Given the description of an element on the screen output the (x, y) to click on. 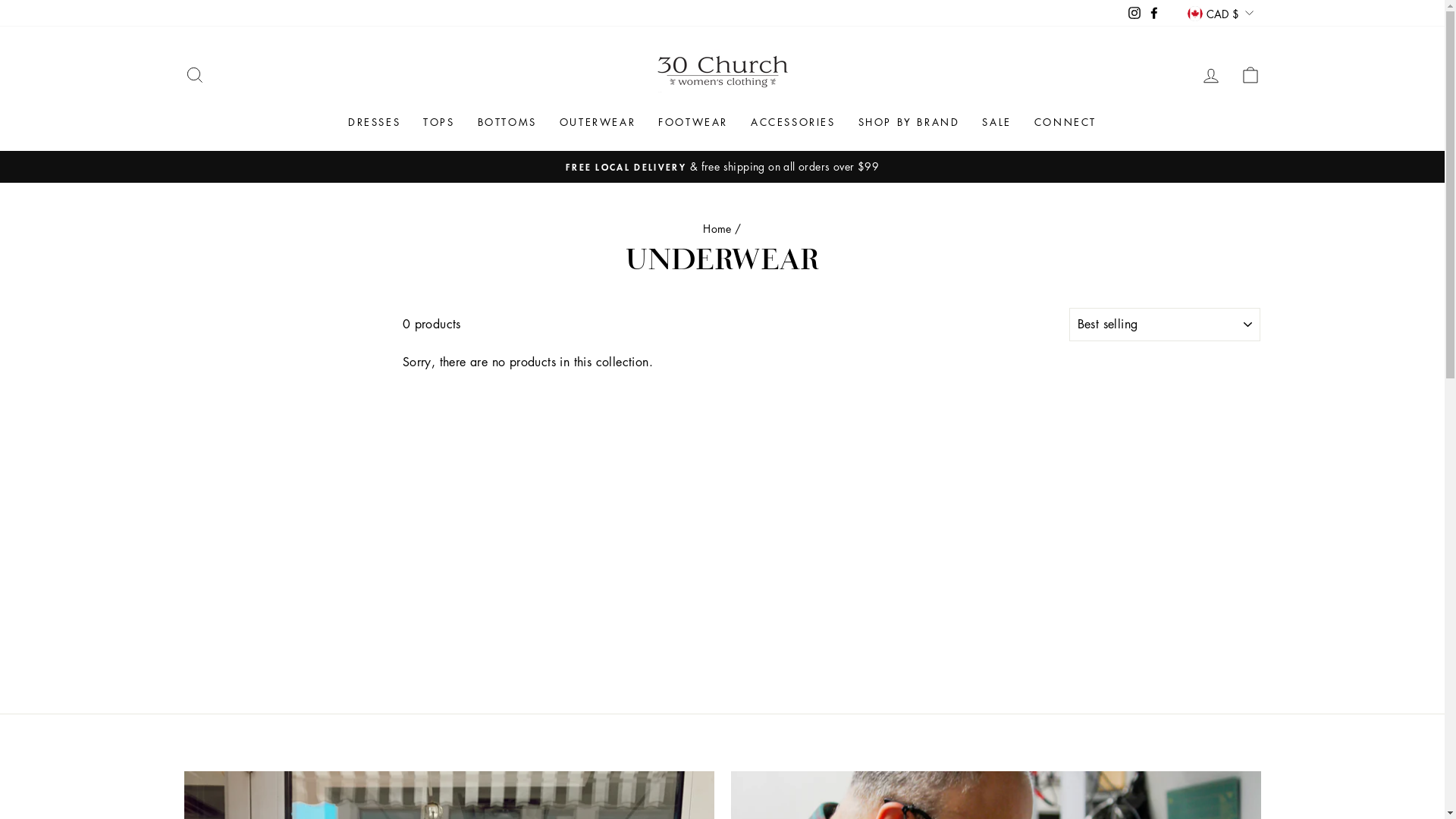
CONNECT Element type: text (1064, 122)
LOG IN Element type: text (1210, 75)
CART Element type: text (1249, 75)
CAD $ Element type: text (1220, 13)
SHOP BY BRAND Element type: text (909, 122)
Facebook Element type: text (1154, 12)
SALE Element type: text (996, 122)
DRESSES Element type: text (373, 122)
Home Element type: text (716, 227)
FOOTWEAR Element type: text (692, 122)
Instagram Element type: text (1134, 12)
BOTTOMS Element type: text (507, 122)
ACCESSORIES Element type: text (793, 122)
OUTERWEAR Element type: text (597, 122)
SEARCH Element type: text (193, 75)
TOPS Element type: text (438, 122)
Skip to content Element type: text (0, 0)
